Given the description of an element on the screen output the (x, y) to click on. 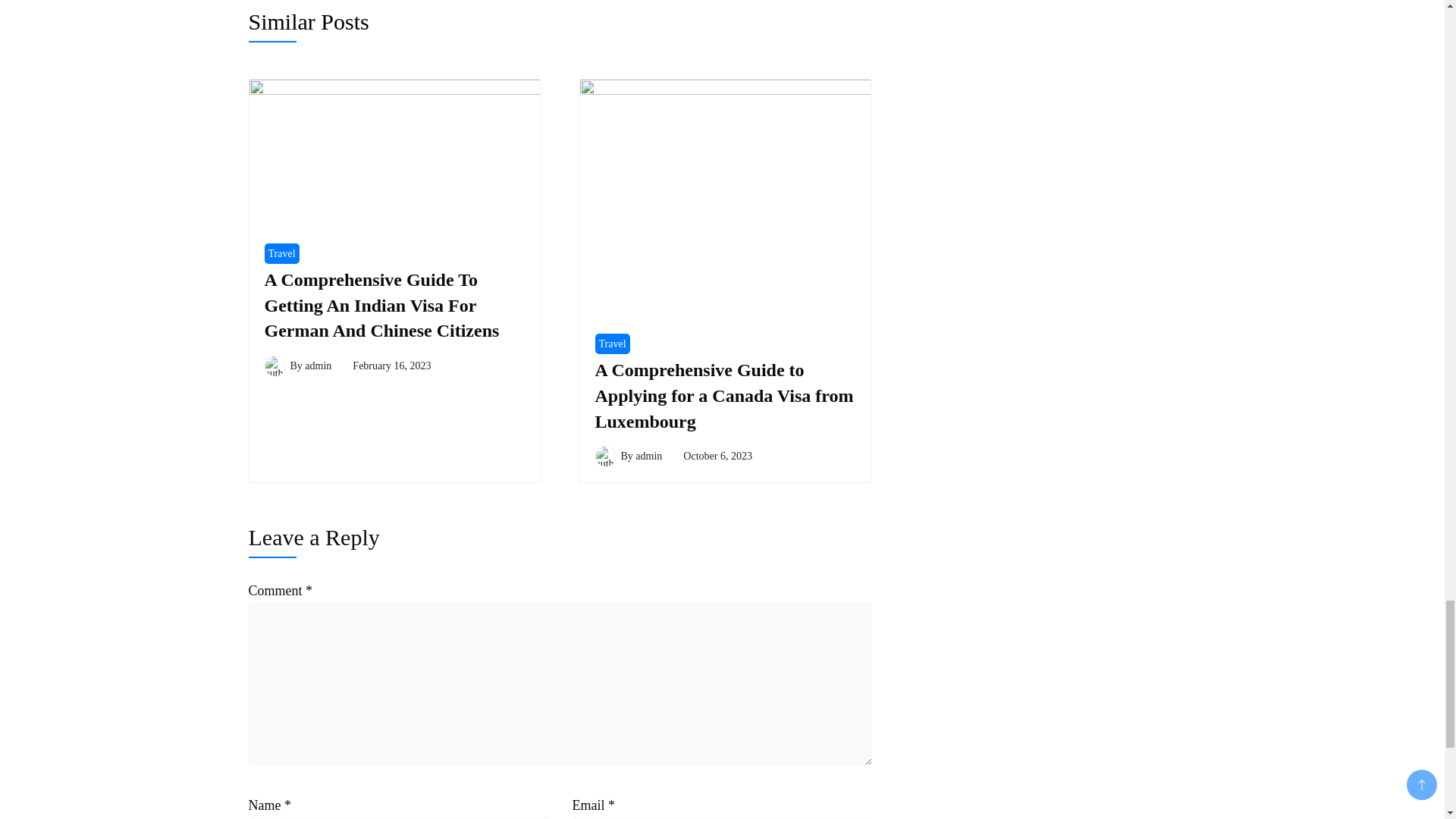
Travel (280, 253)
admin (317, 365)
